Given the description of an element on the screen output the (x, y) to click on. 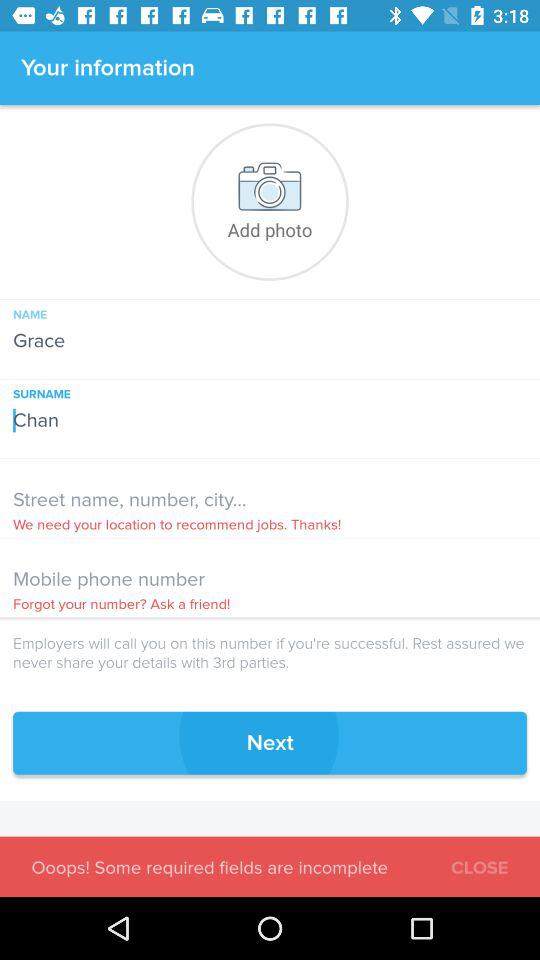
turn on icon next to ooops some required (479, 864)
